Given the description of an element on the screen output the (x, y) to click on. 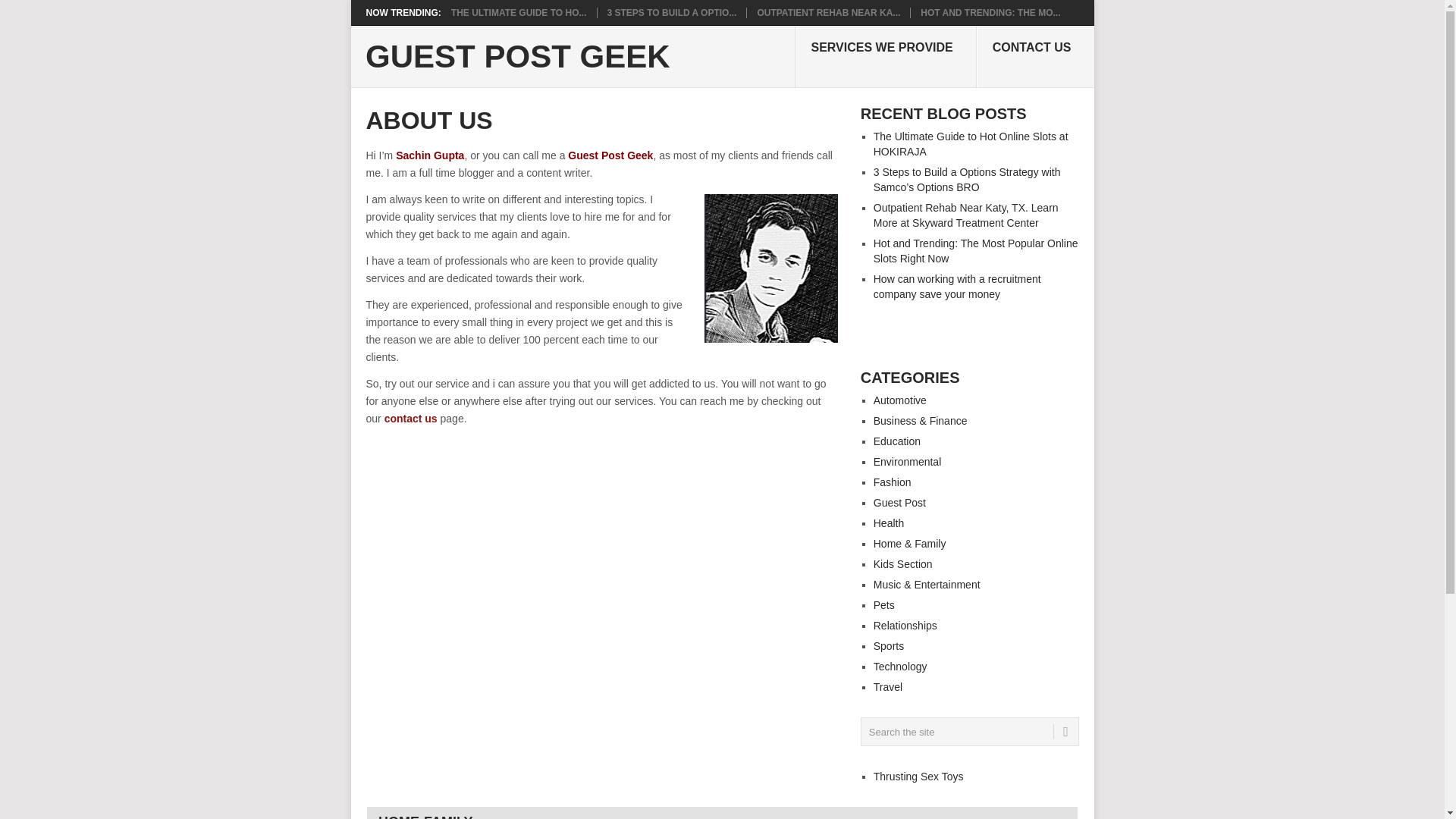
Hot and Trending: The Most Popular Online Slots Right Now (975, 250)
Relationships (905, 625)
Search the site (969, 731)
Technology (900, 666)
CONTACT US (1035, 56)
OUTPATIENT REHAB NEAR KA... (828, 12)
SERVICES WE PROVIDE (884, 56)
Guest Post (899, 502)
Hot and Trending: The Most Popular Online Slots Right Now (989, 12)
GUEST POST GEEK (517, 56)
